Given the description of an element on the screen output the (x, y) to click on. 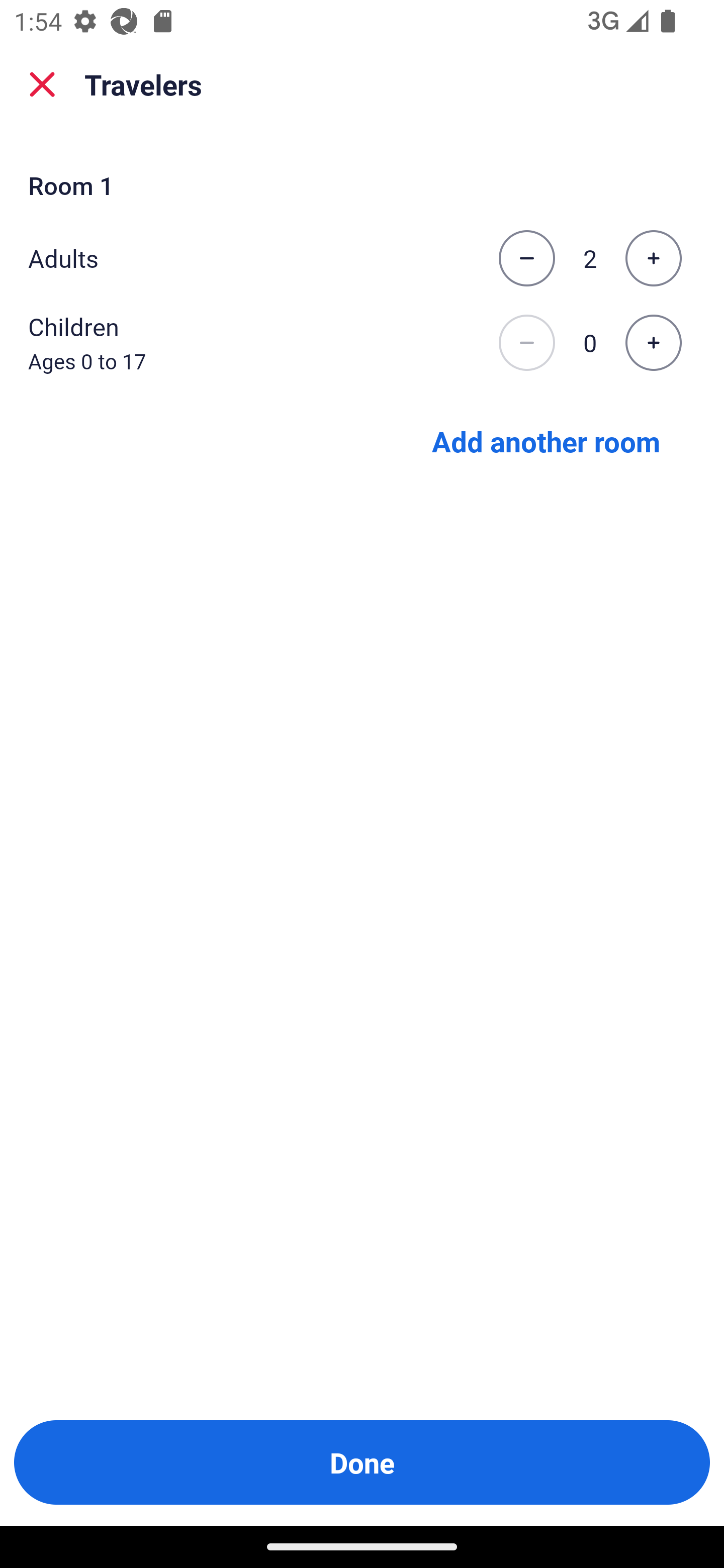
close (42, 84)
Decrease the number of adults (526, 258)
Increase the number of adults (653, 258)
Decrease the number of children (526, 343)
Increase the number of children (653, 343)
Add another room (545, 440)
Done (361, 1462)
